Given the description of an element on the screen output the (x, y) to click on. 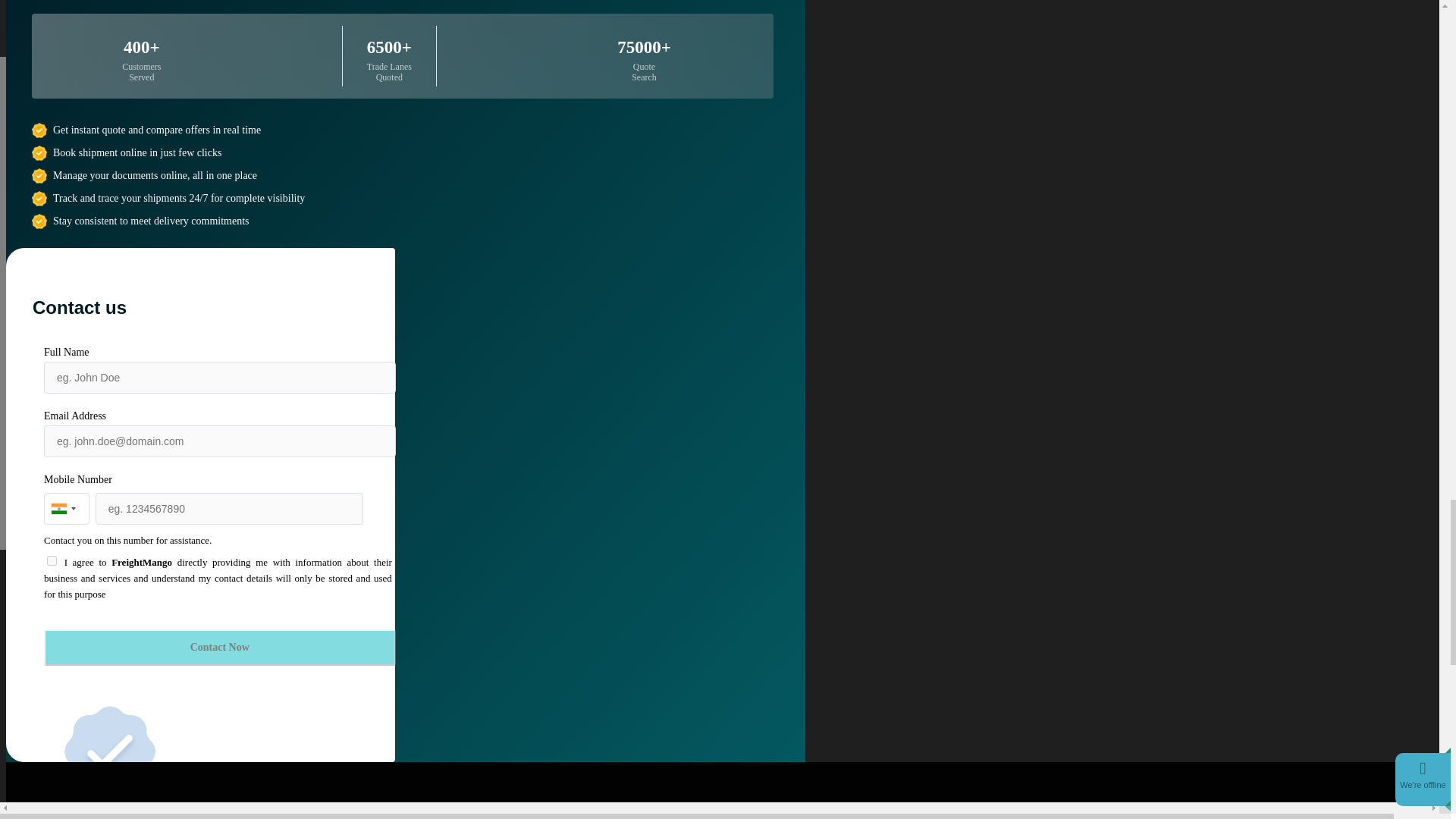
on (51, 560)
